Given the description of an element on the screen output the (x, y) to click on. 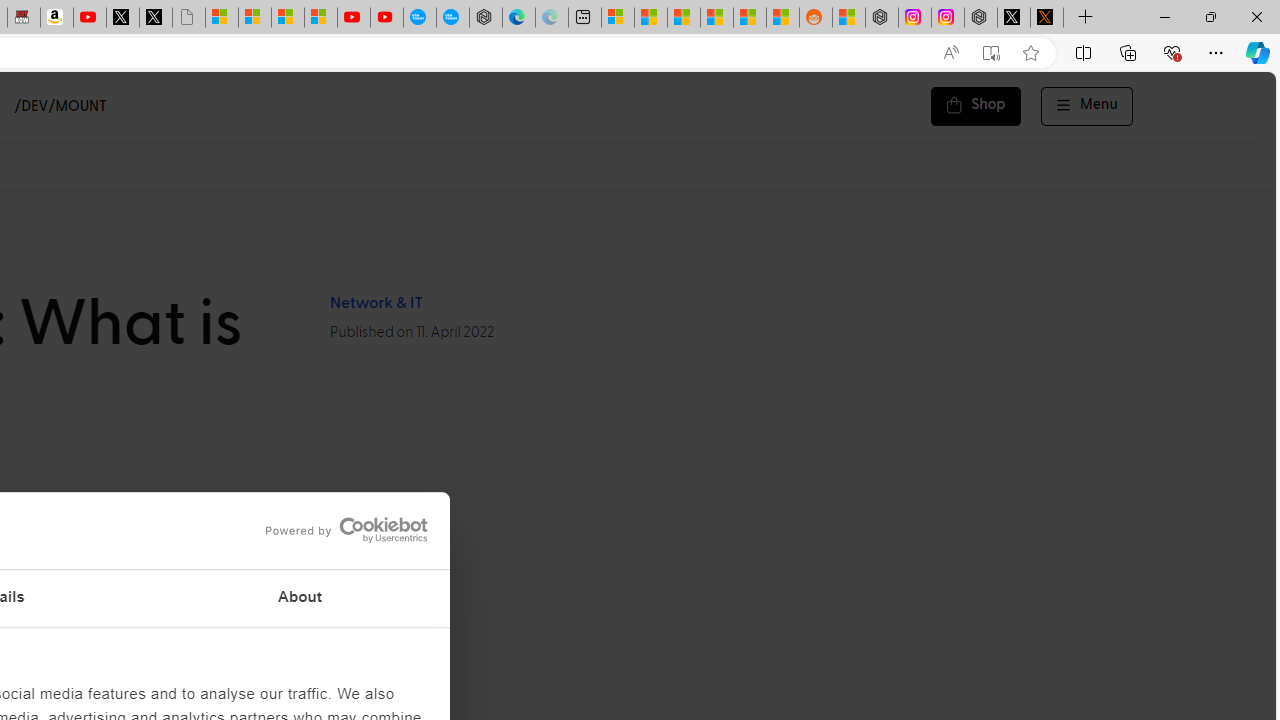
Microsoft account | Microsoft Account Privacy Settings (617, 17)
logo - opens in a new window (339, 530)
Day 1: Arriving in Yemen (surreal to be here) - YouTube (90, 17)
Gloom - YouTube (353, 17)
